Given the description of an element on the screen output the (x, y) to click on. 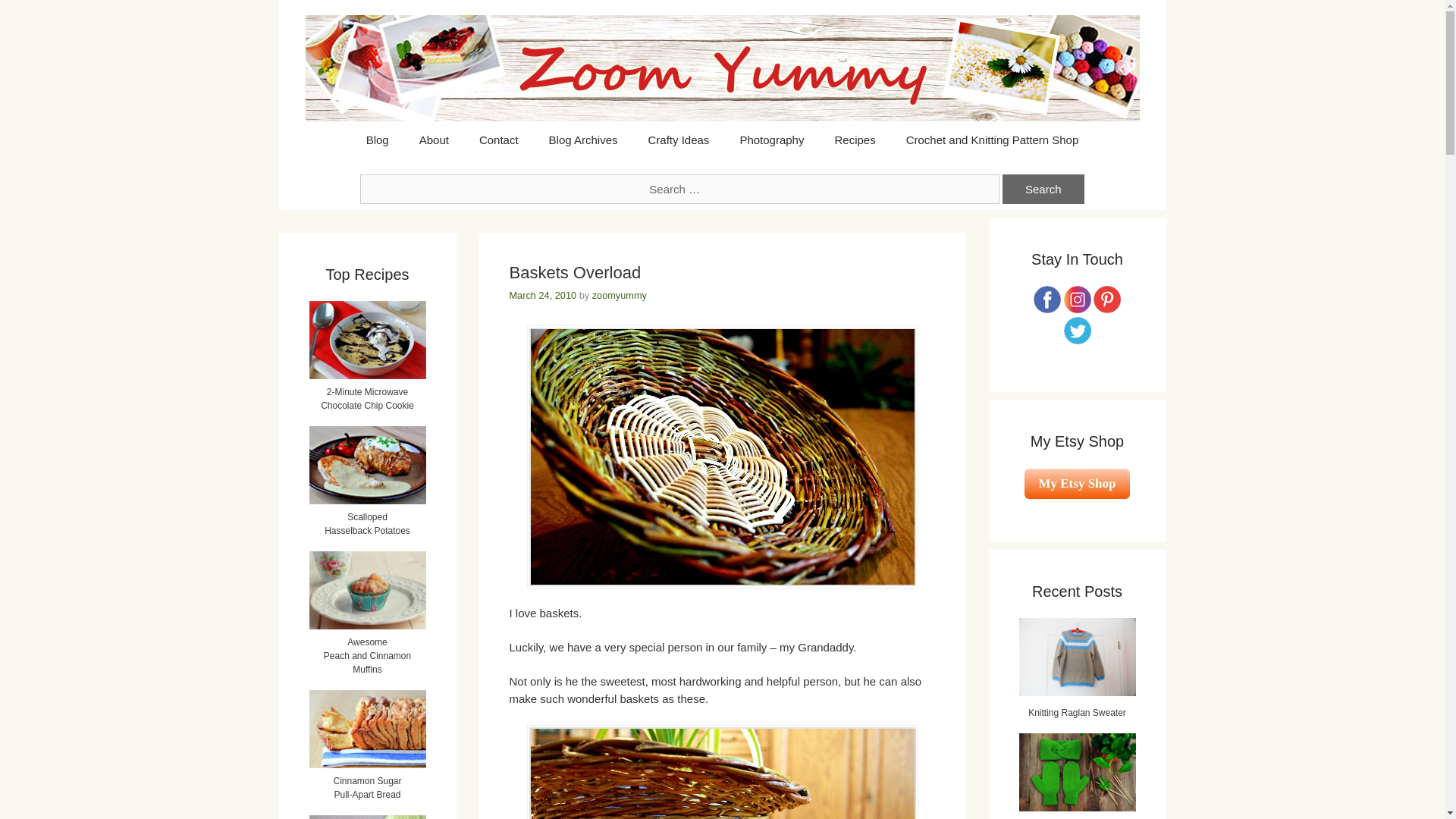
Crafty Ideas (677, 140)
About (434, 140)
Search (1043, 188)
Search (1043, 188)
Contact (499, 140)
basket (721, 456)
Photography (770, 140)
Recipes (853, 140)
Crochet and Knitting Pattern Shop (992, 140)
Search for: (678, 188)
